Given the description of an element on the screen output the (x, y) to click on. 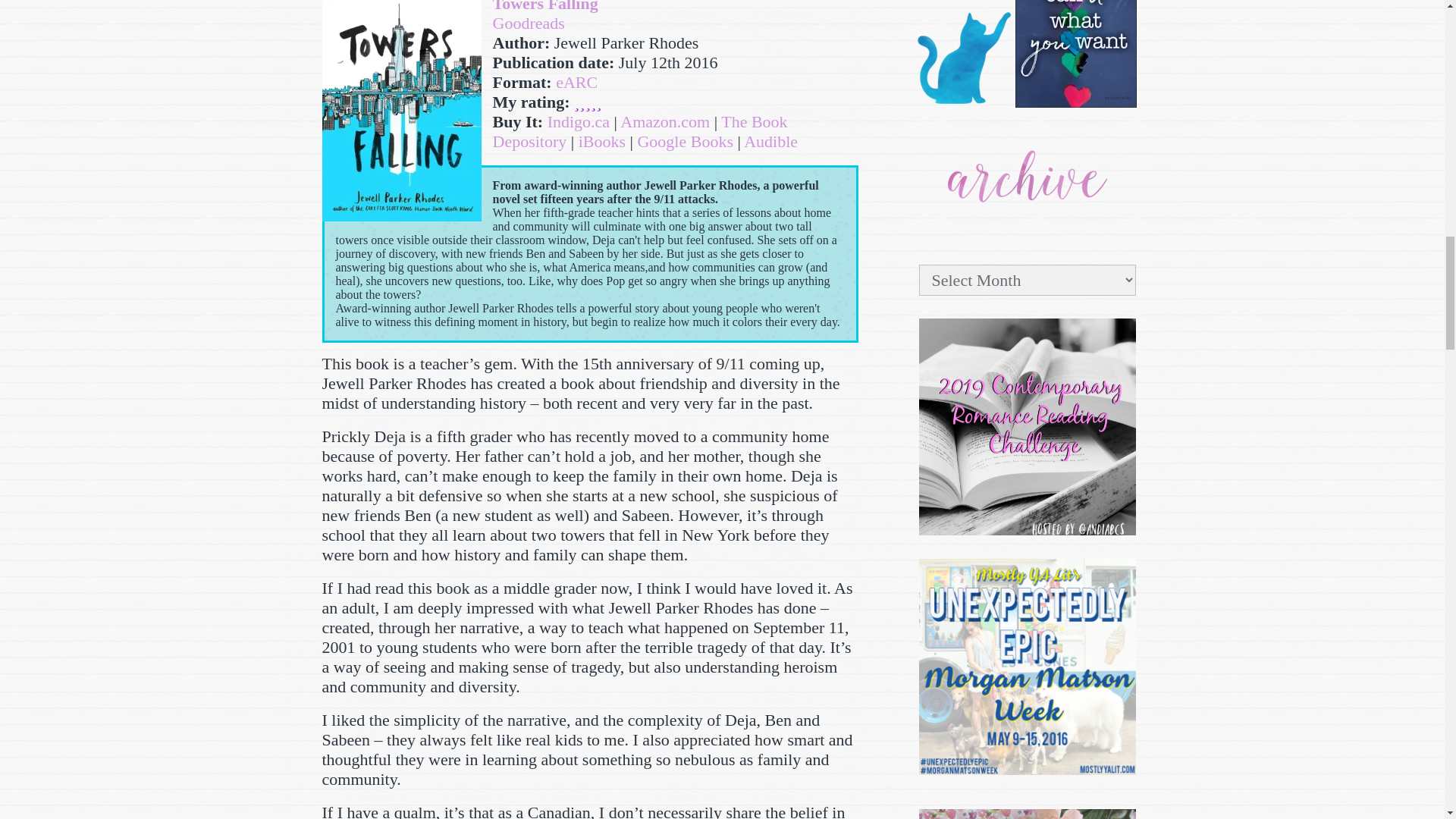
eARC (576, 81)
Towers Falling (545, 6)
Goodreads (528, 22)
Indigo.ca (578, 121)
